Given the description of an element on the screen output the (x, y) to click on. 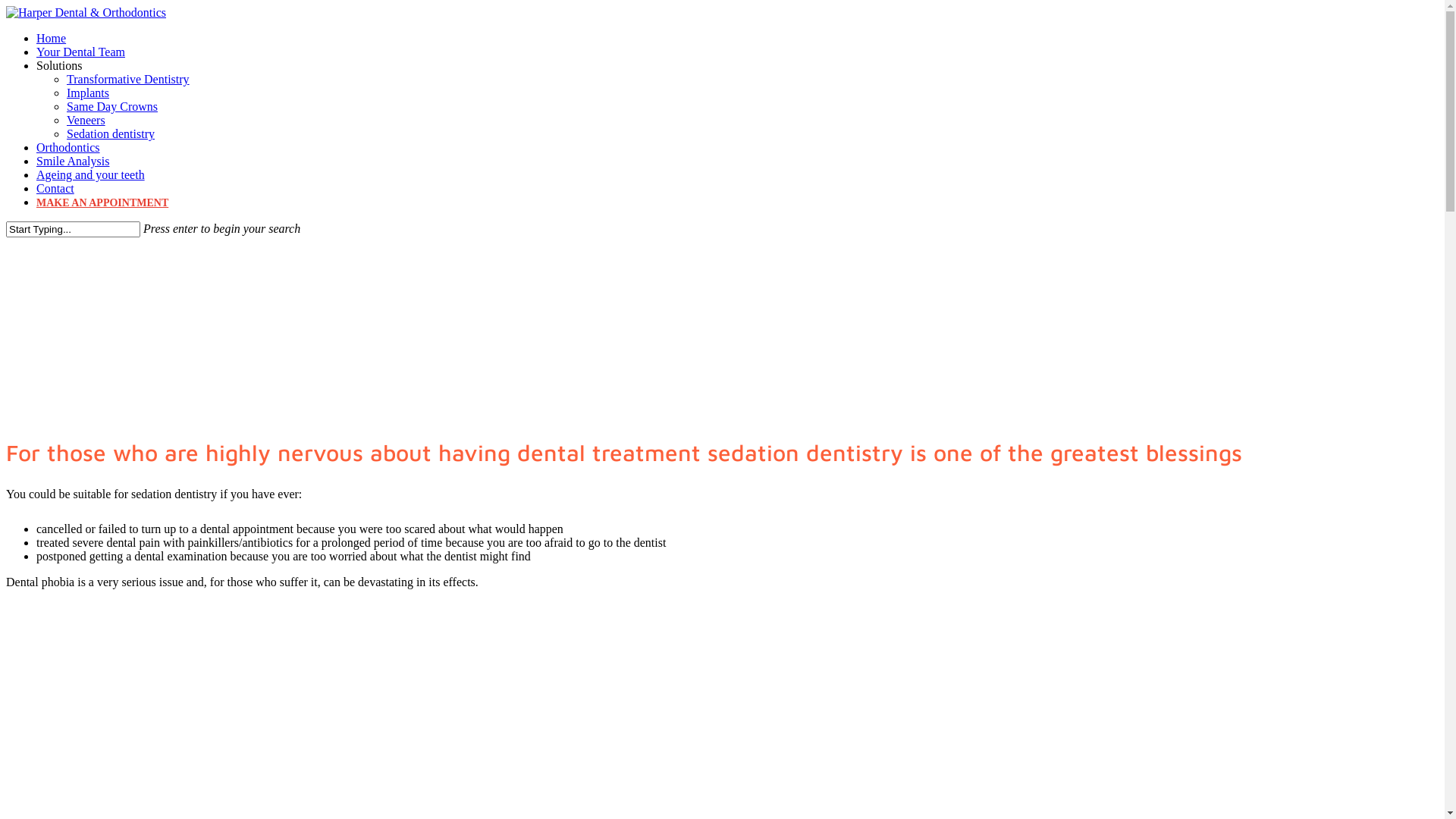
MAKE AN APPOINTMENT Element type: text (102, 202)
Sedation dentistry Element type: text (110, 133)
Implants Element type: text (87, 92)
Solutions Element type: text (58, 65)
Smile Analysis Element type: text (72, 160)
Transformative Dentistry Element type: text (127, 78)
Home Element type: text (50, 37)
Veneers Element type: text (85, 119)
Ageing and your teeth Element type: text (90, 174)
Orthodontics Element type: text (68, 147)
Your Dental Team Element type: text (80, 51)
Contact Element type: text (55, 188)
Same Day Crowns Element type: text (111, 106)
